Given the description of an element on the screen output the (x, y) to click on. 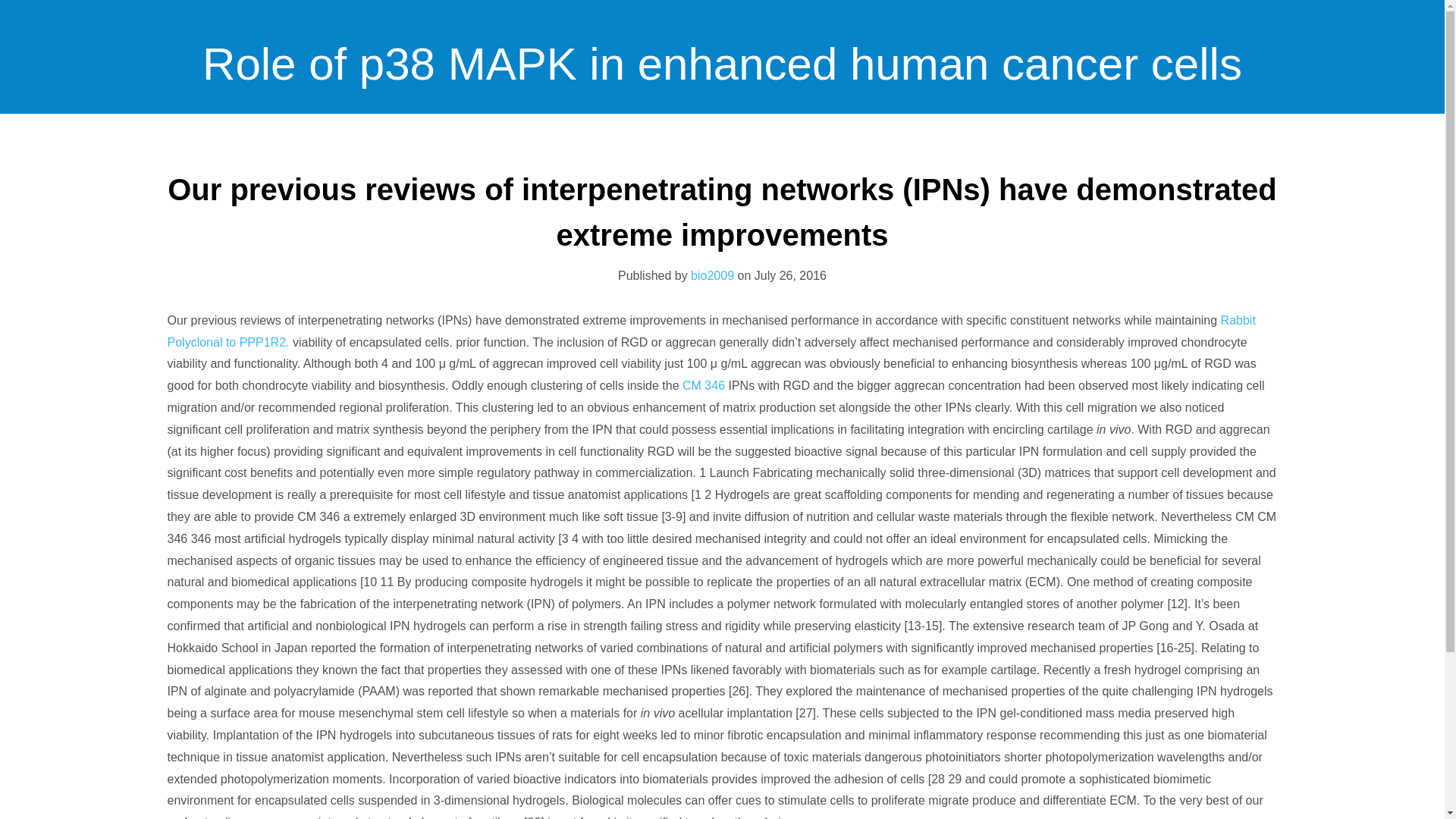
Role of p38 MAPK in enhanced human cancer cells killing (721, 188)
Role of p38 MAPK in enhanced human cancer cells killing (721, 188)
Rabbit Polyclonal to PPP1R2. (711, 330)
CM 346 (703, 385)
bio2009 (711, 275)
